Given the description of an element on the screen output the (x, y) to click on. 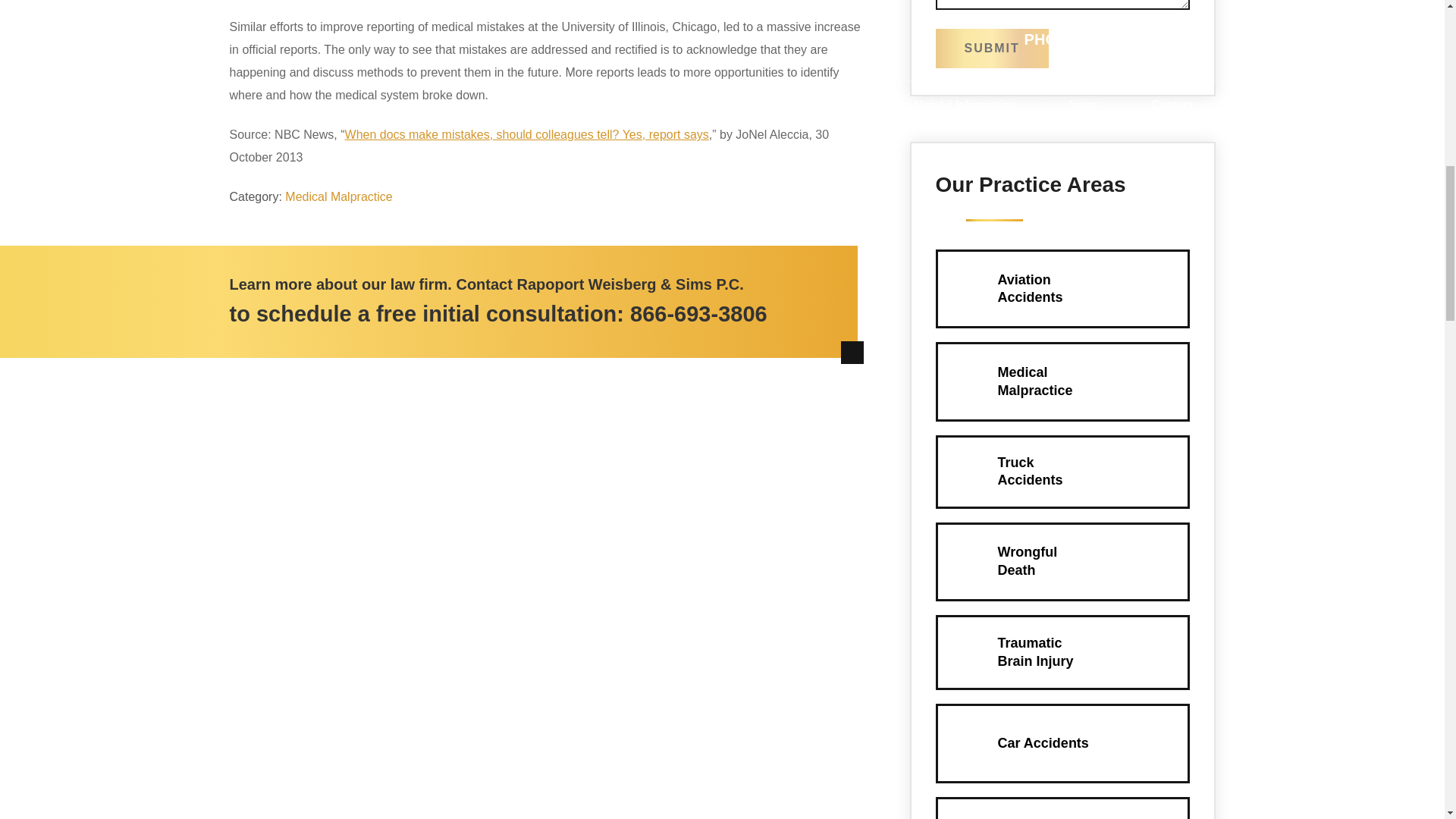
Car Accidents (1061, 652)
Medical Malpractice (1061, 561)
866-693-3806 (1061, 743)
Submit (1061, 380)
Submit (1061, 471)
